Given the description of an element on the screen output the (x, y) to click on. 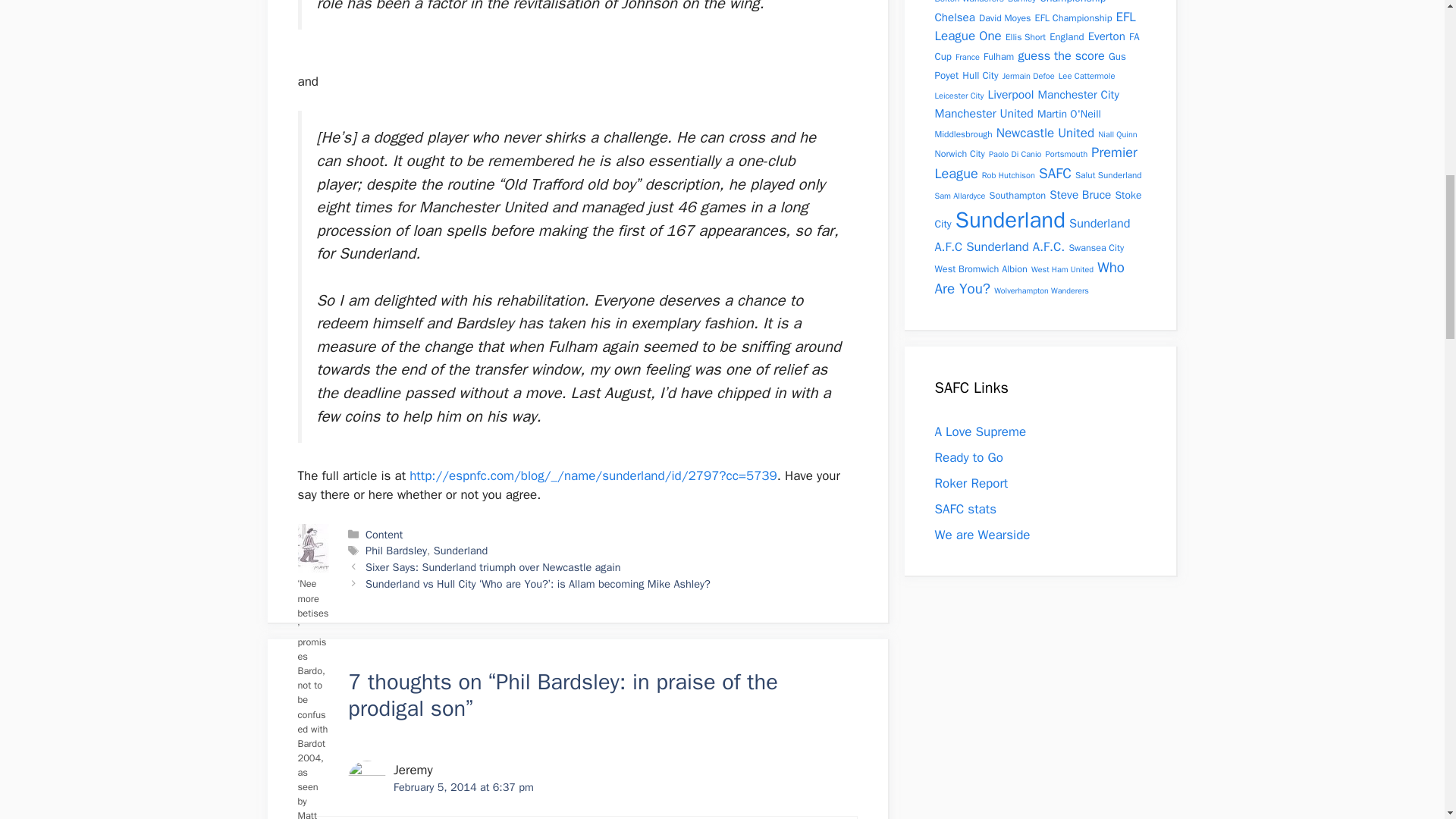
Content (384, 534)
Sixer Says: Sunderland triumph over Newcastle again (492, 567)
Championship (1072, 2)
Bolton Wanderers (968, 2)
EFL League One (1034, 27)
Burnley (1021, 2)
February 5, 2014 at 6:37 pm (463, 786)
Sunderland (460, 550)
Ellis Short (1025, 37)
David Moyes (1004, 18)
